Given the description of an element on the screen output the (x, y) to click on. 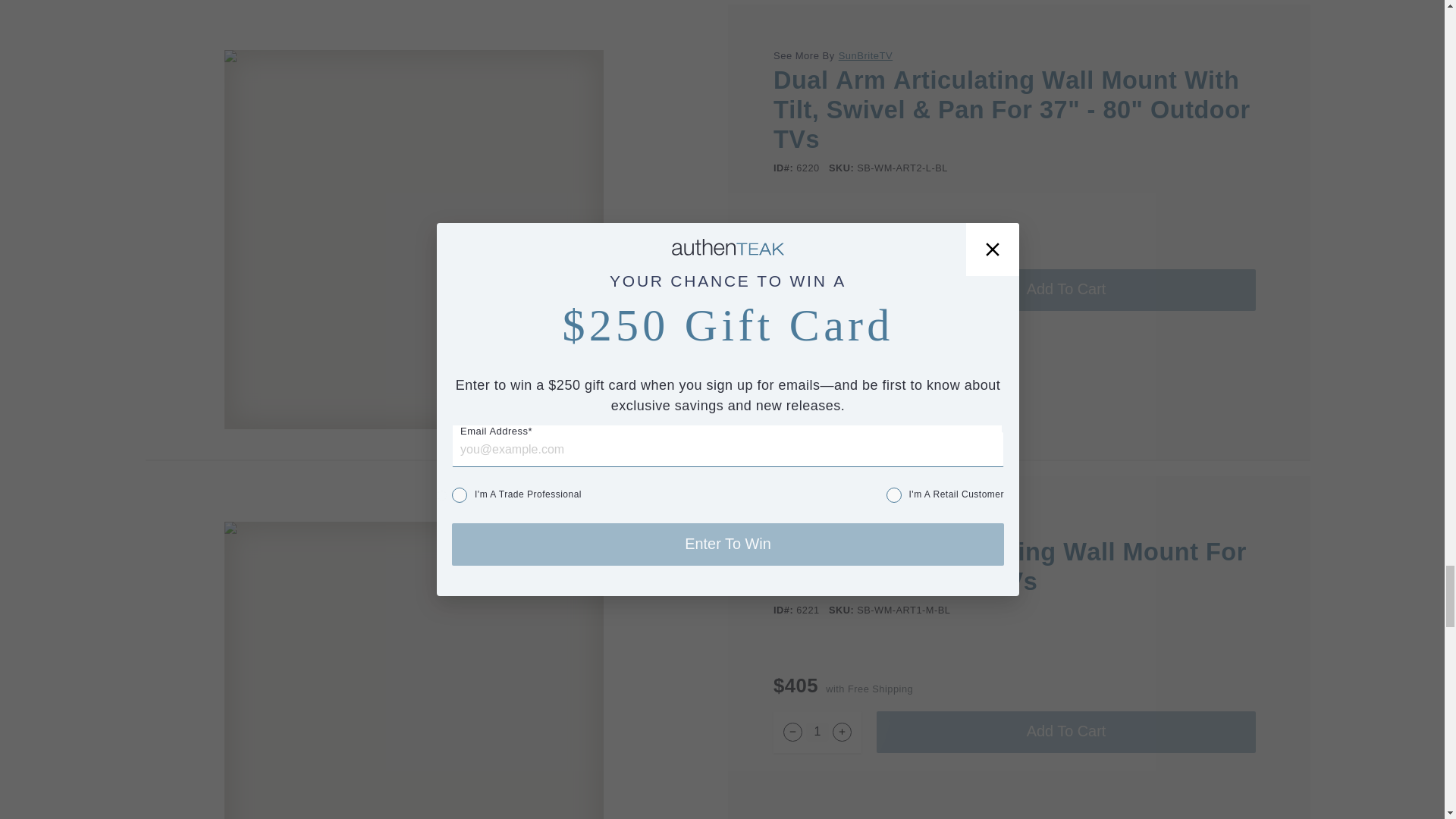
1 (817, 732)
1 (817, 289)
